Given the description of an element on the screen output the (x, y) to click on. 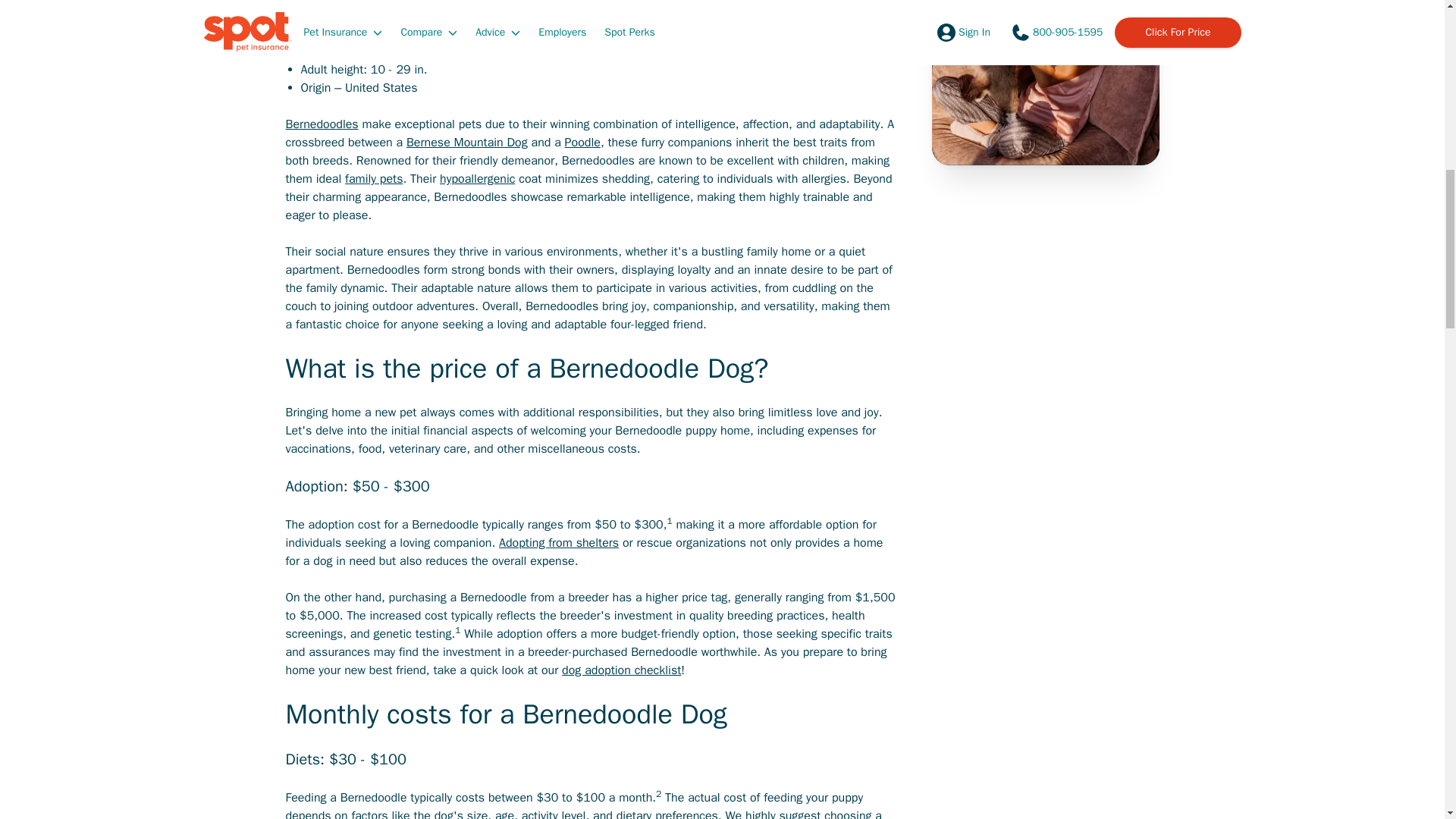
Bernedoodles (321, 124)
family pets (374, 178)
Bernese Mountain Dog (466, 142)
Poodle (581, 142)
